Given the description of an element on the screen output the (x, y) to click on. 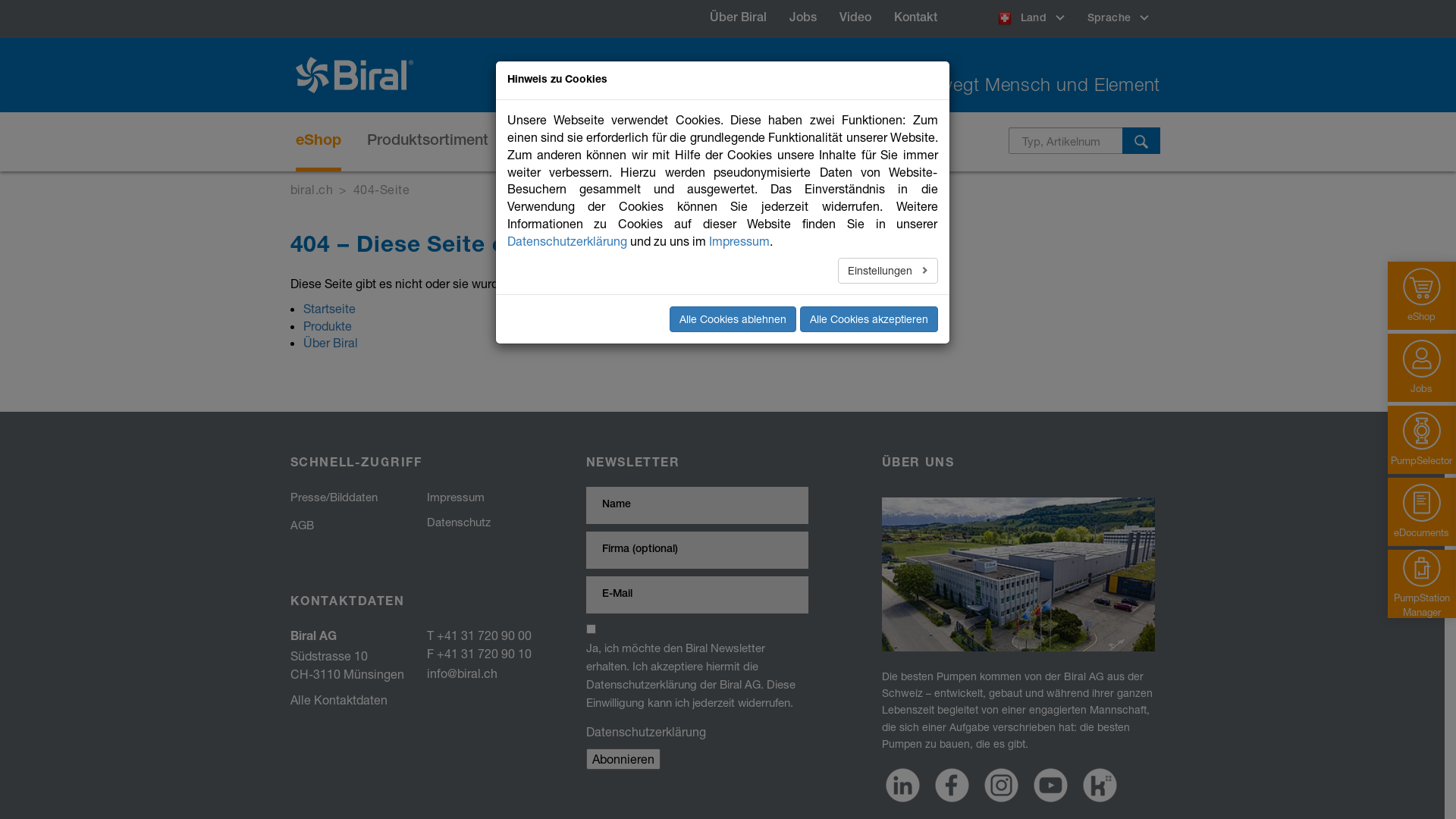
AGB Element type: text (301, 524)
Datenschutz Element type: text (457, 521)
Sprache Element type: text (1118, 18)
Alle Kontaktdaten Element type: text (337, 699)
Jobs Element type: text (803, 18)
info@biral.ch Element type: text (461, 672)
Service & Support Element type: text (577, 141)
Planungstools Element type: text (715, 141)
eShop Element type: text (318, 141)
Biral Element type: hover (359, 74)
Impressum Element type: text (738, 240)
Alle Cookies akzeptieren Element type: text (868, 319)
Startseite Element type: text (329, 308)
Einstellungen Element type: text (887, 270)
Alle Cookies ablehnen Element type: text (731, 319)
Showroom Element type: text (911, 141)
Impressum Element type: text (454, 496)
Produkte Element type: text (327, 325)
Kontakt Element type: text (915, 18)
Campus Element type: text (818, 141)
biral.ch Element type: text (310, 189)
T +41 31 720 90 00 Element type: text (478, 634)
Produktsortiment Element type: text (427, 141)
Abonnieren Element type: text (622, 758)
Presse/Bilddaten Element type: text (332, 496)
404-Seite Element type: text (381, 189)
Video Element type: text (855, 18)
Land Element type: text (1031, 18)
